Given the description of an element on the screen output the (x, y) to click on. 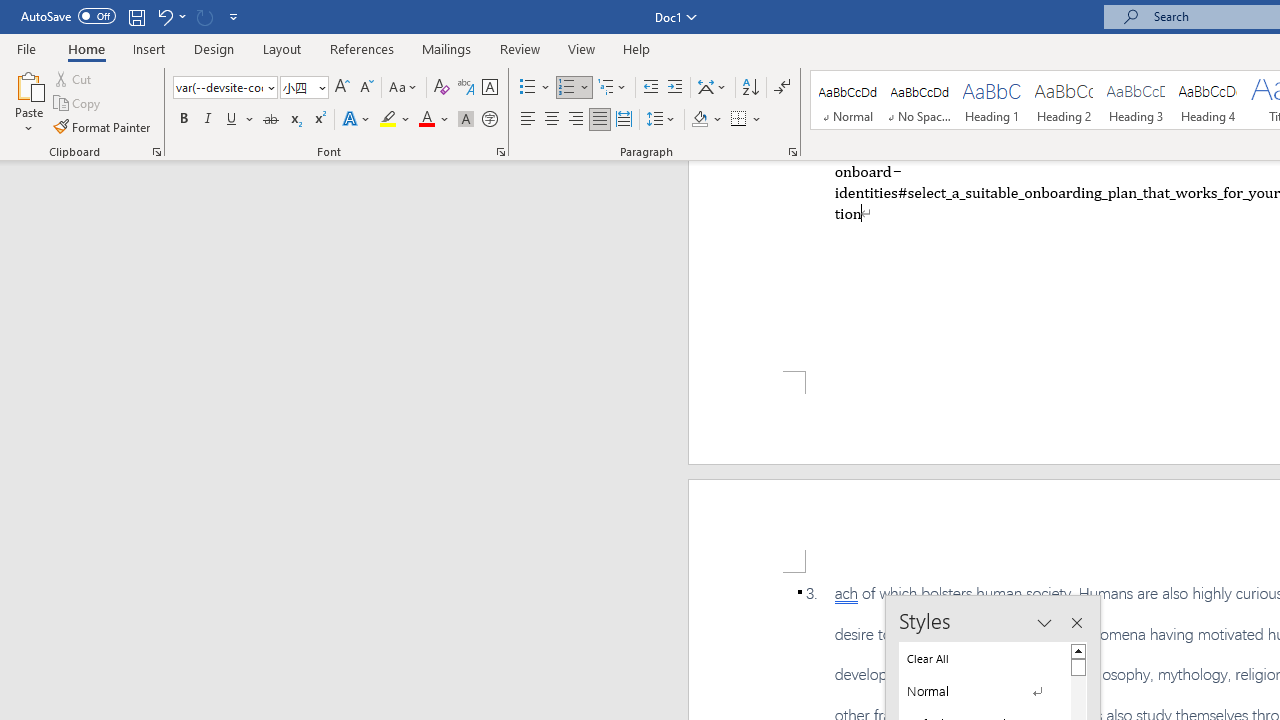
Center (552, 119)
Undo Apply Quick Style (164, 15)
Mailings (447, 48)
Sort... (750, 87)
Layout (282, 48)
Format Painter (103, 126)
Text Highlight Color Yellow (388, 119)
Numbering (573, 87)
Help (637, 48)
Clear All (984, 658)
Bullets (527, 87)
Heading 3 (1135, 100)
System (10, 11)
